Given the description of an element on the screen output the (x, y) to click on. 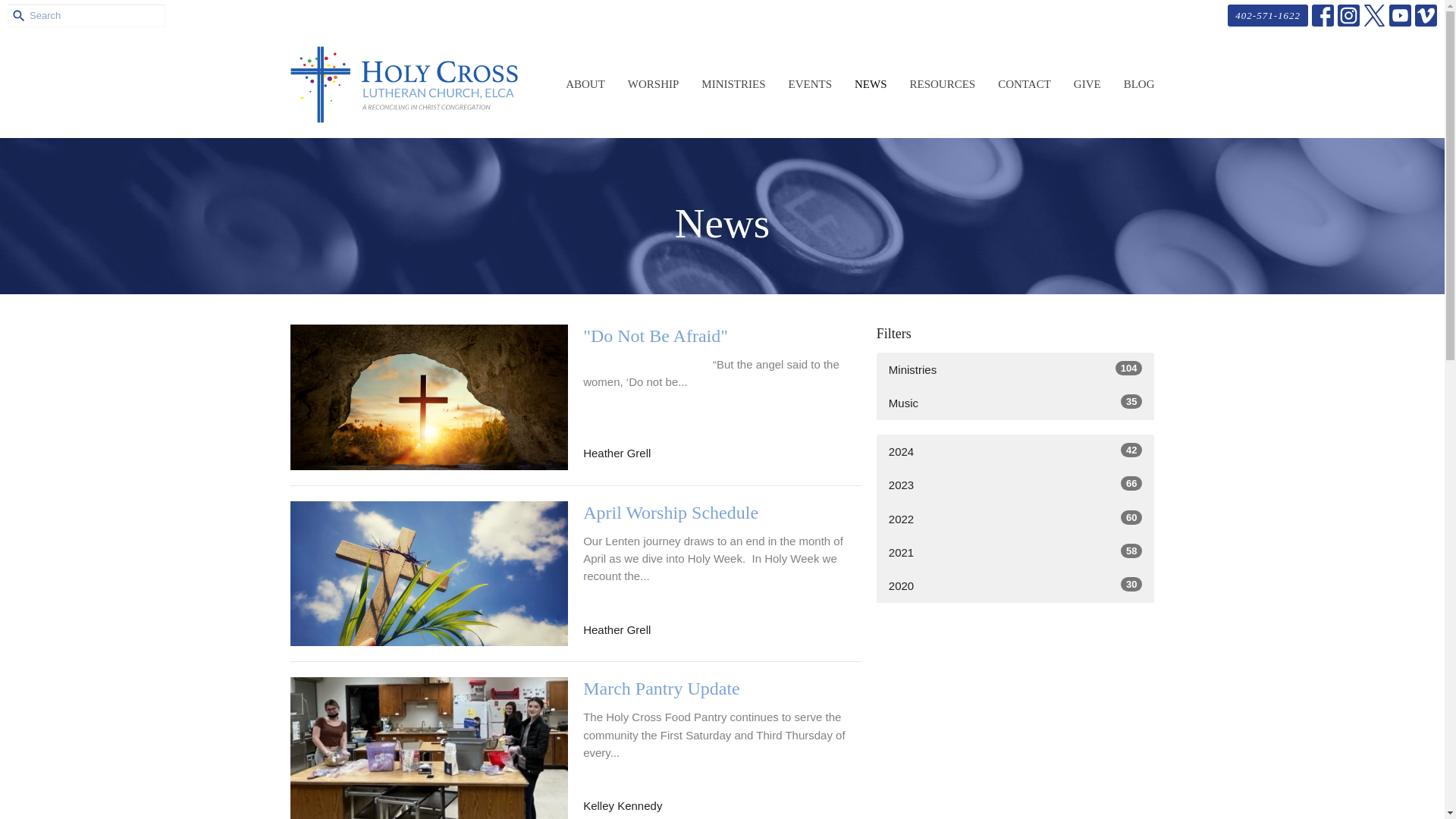
RESOURCES (1015, 369)
GIVE (941, 84)
402-571-1622 (1015, 402)
BLOG (1087, 84)
CONTACT (1267, 15)
ABOUT (1139, 84)
